Given the description of an element on the screen output the (x, y) to click on. 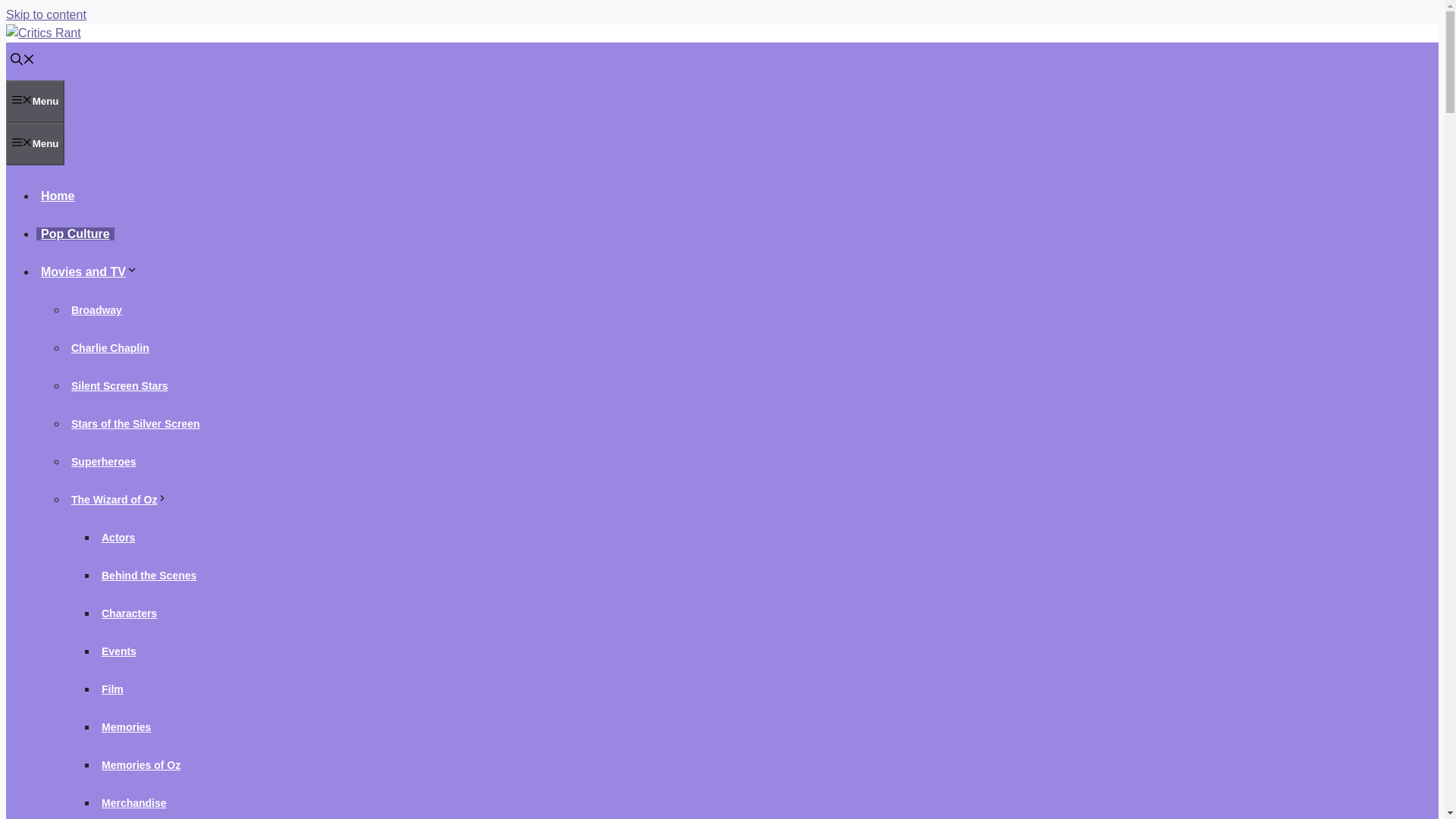
Movies and TV (91, 271)
Stars of the Silver Screen (135, 423)
Skip to content (45, 14)
Behind the Scenes (148, 574)
Superheroes (103, 461)
Characters (129, 613)
Merchandise (134, 802)
Memories of Oz (140, 764)
Home (57, 195)
Memories (126, 727)
The Wizard of Oz (121, 499)
Events (119, 651)
Charlie Chaplin (110, 347)
Pop Culture (75, 233)
Menu (34, 143)
